Given the description of an element on the screen output the (x, y) to click on. 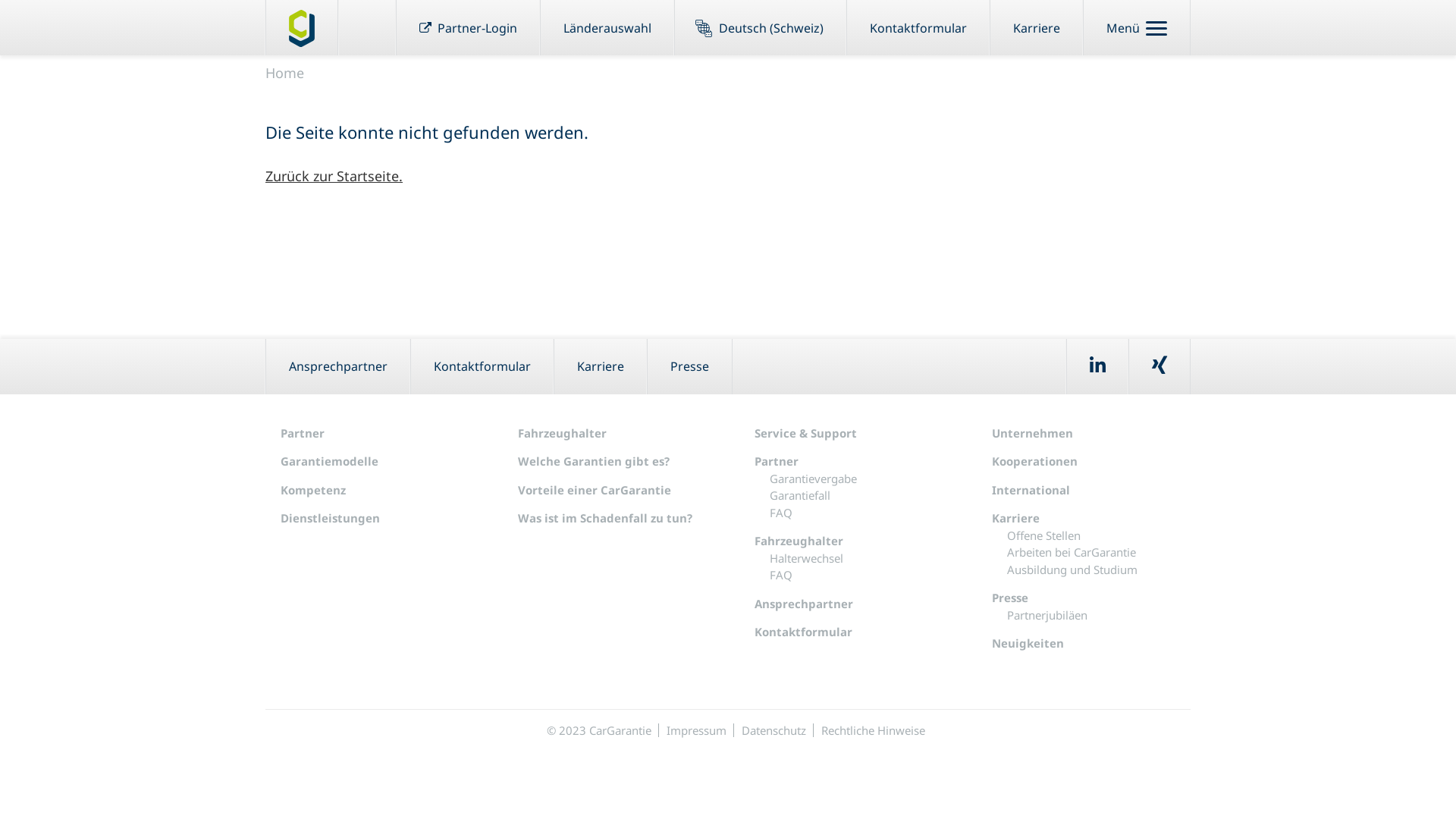
International Element type: text (1030, 489)
Fahrzeughalter Element type: text (561, 432)
Partner Element type: text (302, 432)
FAQ Element type: text (780, 512)
Welche Garantien gibt es? Element type: text (592, 460)
Unternehmen Element type: text (1032, 432)
Arbeiten bei CarGarantie Element type: text (1071, 551)
Ansprechpartner Element type: text (803, 603)
Neuigkeiten Element type: text (1027, 642)
Partner Element type: text (776, 460)
Skip to content Element type: text (0, 55)
Fahrzeughalter Element type: text (798, 540)
Garantiefall Element type: text (799, 494)
Karriere Element type: text (600, 366)
Service & Support Element type: text (805, 432)
Ausbildung und Studium Element type: text (1072, 569)
Kontaktformular Element type: text (482, 366)
Presse Element type: text (689, 366)
Kompetenz Element type: text (312, 489)
Offene Stellen Element type: text (1043, 534)
Ansprechpartner Element type: text (338, 366)
Garantievergabe Element type: text (812, 478)
Impressum Element type: text (695, 729)
Vorteile einer CarGarantie Element type: text (593, 489)
Kooperationen Element type: text (1034, 460)
Garantiemodelle Element type: text (329, 460)
FAQ Element type: text (780, 574)
Datenschutz Element type: text (773, 729)
Was ist im Schadenfall zu tun? Element type: text (604, 517)
Karriere Element type: text (1015, 517)
Partner-Login Element type: text (467, 27)
Kontaktformular Element type: text (803, 631)
Kontaktformular Element type: text (918, 27)
Karriere Element type: text (1036, 27)
Dienstleistungen Element type: text (329, 517)
Presse Element type: text (1009, 597)
Halterwechsel Element type: text (806, 557)
Rechtliche Hinweise Element type: text (872, 729)
